Given the description of an element on the screen output the (x, y) to click on. 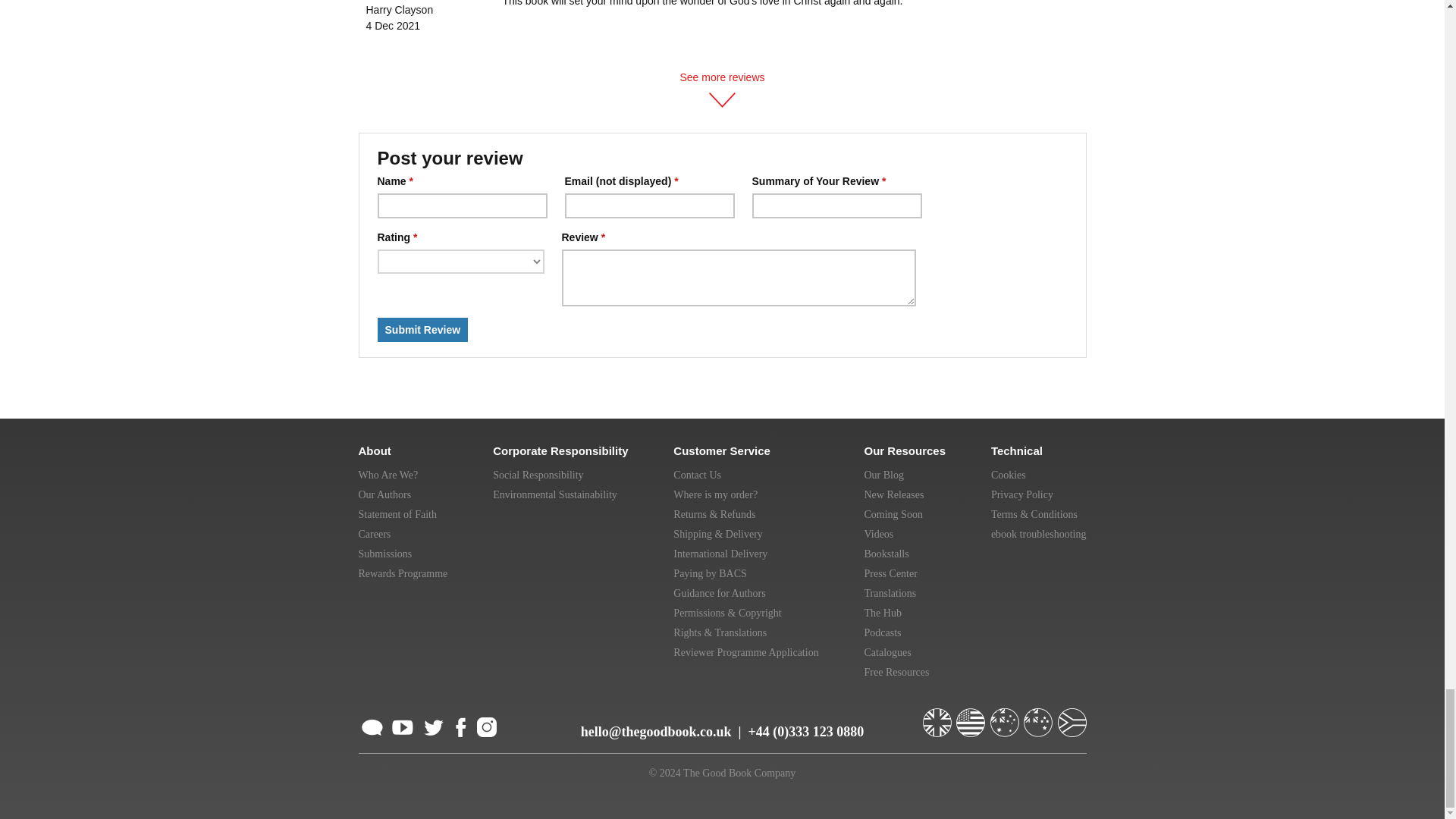
Go to South Africa Website (1071, 715)
Submit Review (422, 329)
Go to New Zealand Website (1039, 715)
Go to Australia Website (1006, 715)
Subscribe to feed (371, 725)
Go to UK Website (937, 715)
Go to US Website (972, 715)
